Given the description of an element on the screen output the (x, y) to click on. 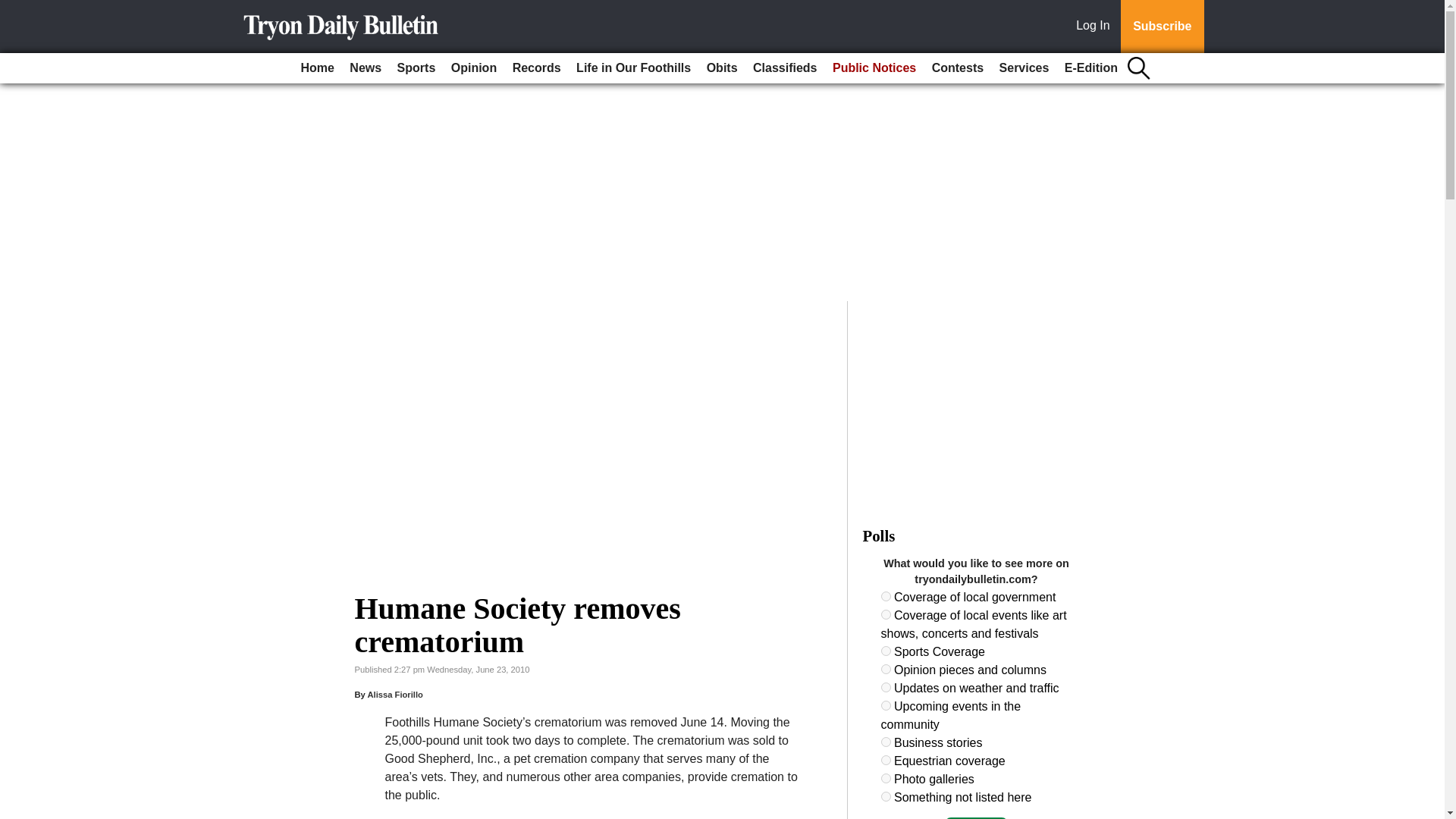
1558 (885, 614)
1559 (885, 651)
Log In (1095, 26)
1564 (885, 759)
Alissa Fiorillo (394, 694)
Home (316, 68)
News (365, 68)
Opinion (473, 68)
1560 (885, 669)
1565 (885, 777)
Subscribe (1162, 26)
1561 (885, 687)
E-Edition (1091, 68)
Sports (416, 68)
Services (1023, 68)
